Given the description of an element on the screen output the (x, y) to click on. 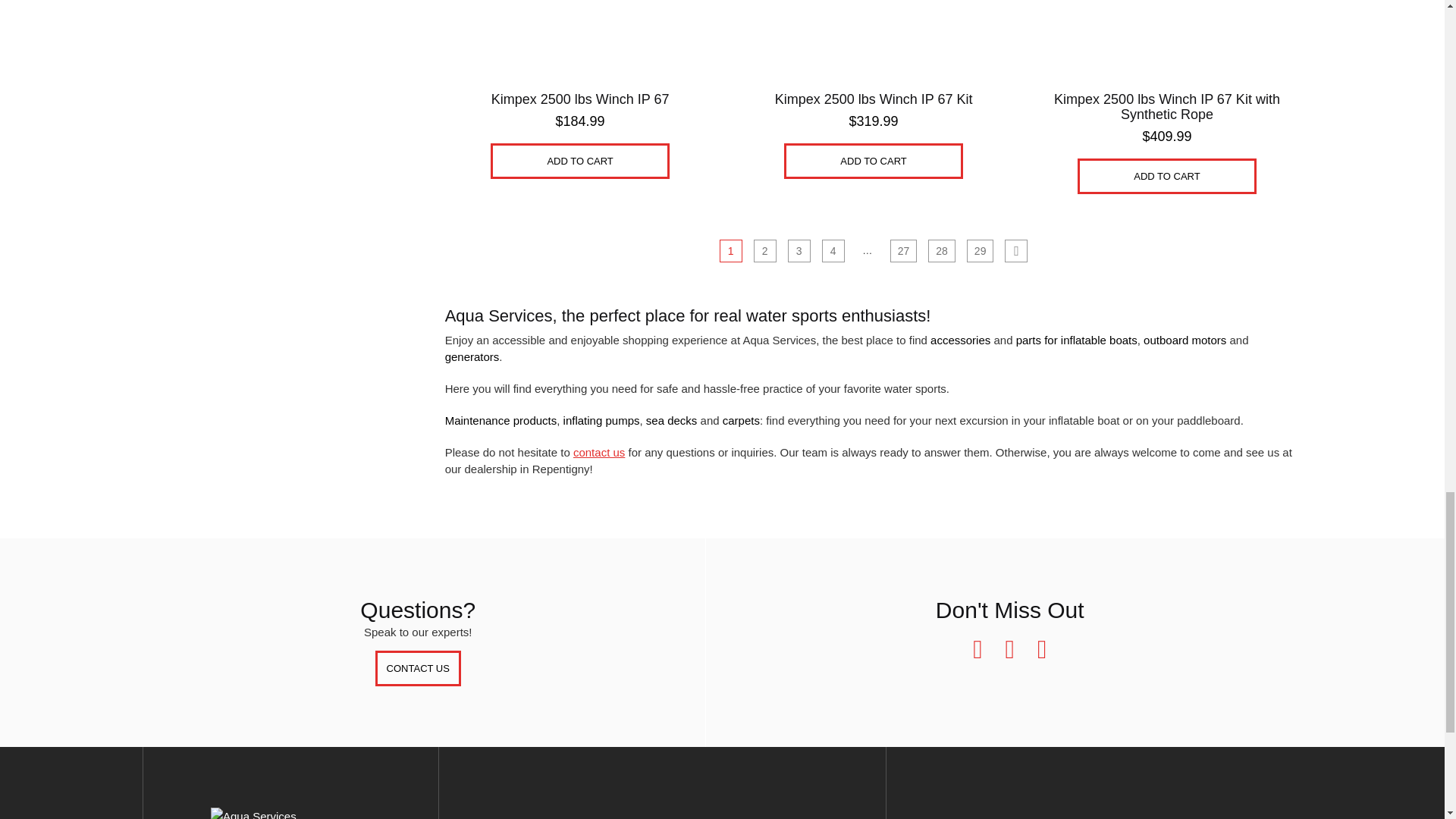
Aqua Services (290, 813)
